Given the description of an element on the screen output the (x, y) to click on. 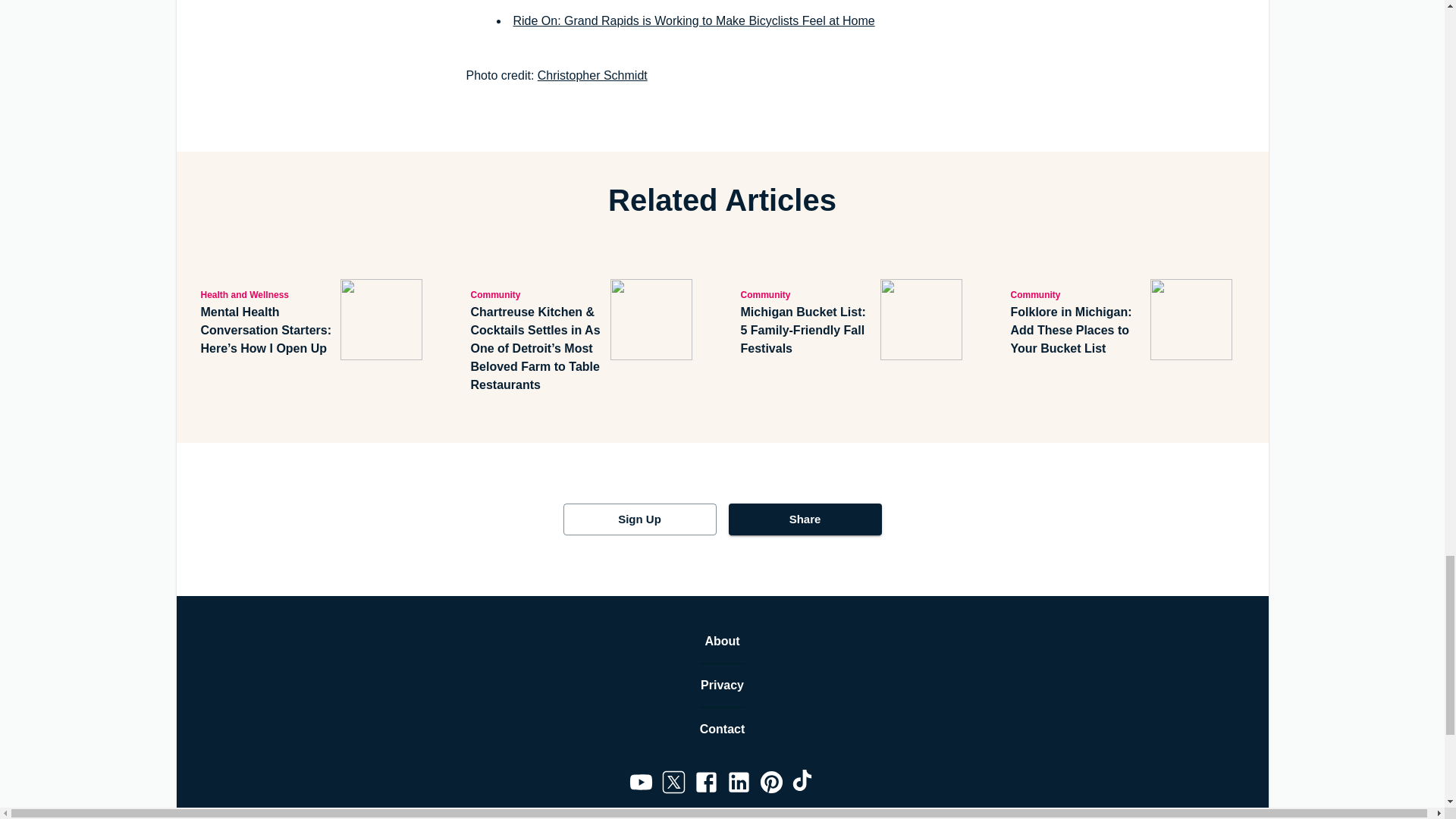
Community (807, 294)
Sign Up (639, 519)
Health and Wellness (267, 294)
Contact (722, 729)
Christopher Schmidt (592, 74)
Michigan Bucket List: 5 Family-Friendly Fall Festivals (807, 330)
Community (537, 294)
Share (804, 519)
Privacy (722, 685)
